Given the description of an element on the screen output the (x, y) to click on. 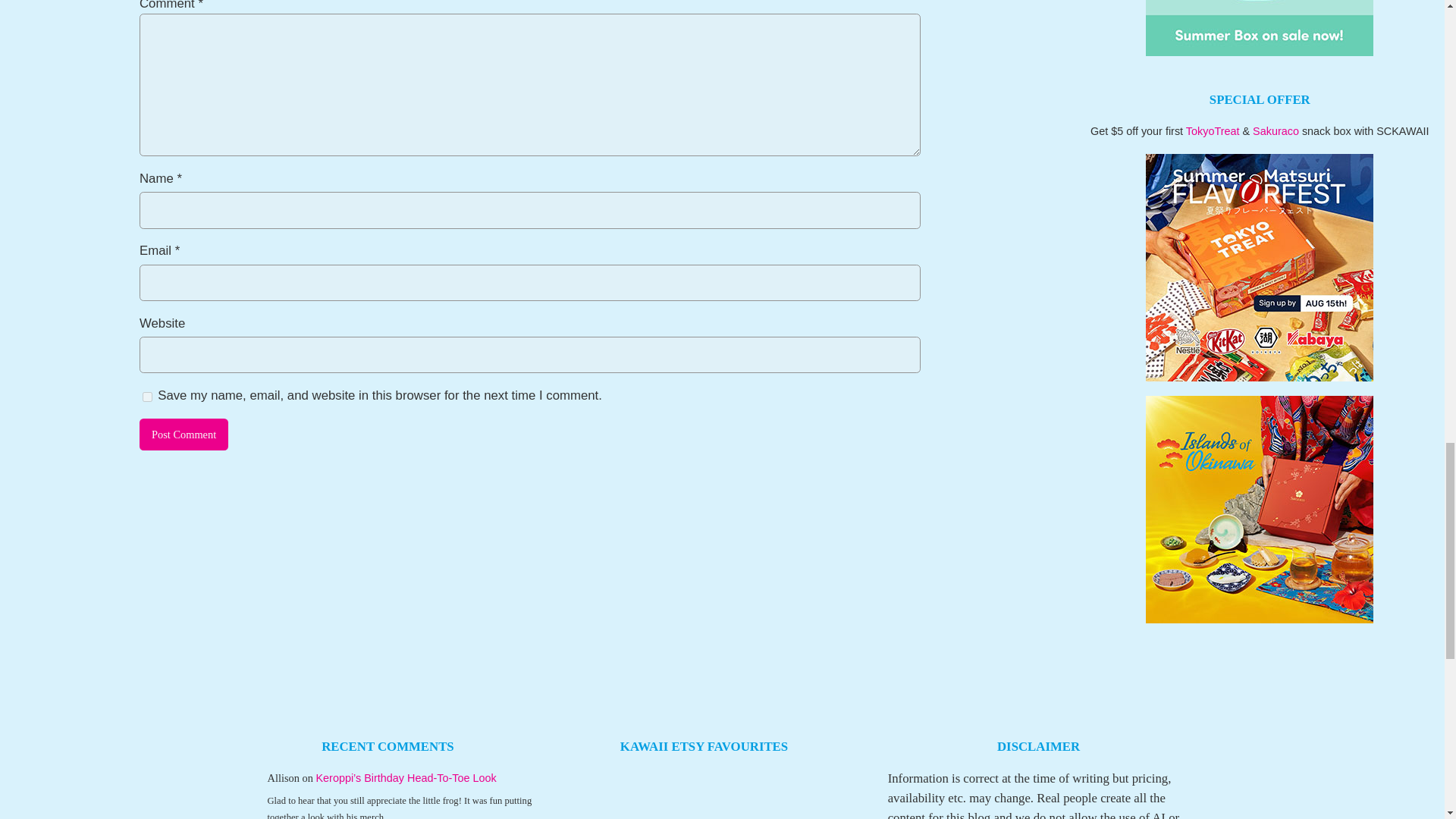
Post Comment (183, 434)
